Given the description of an element on the screen output the (x, y) to click on. 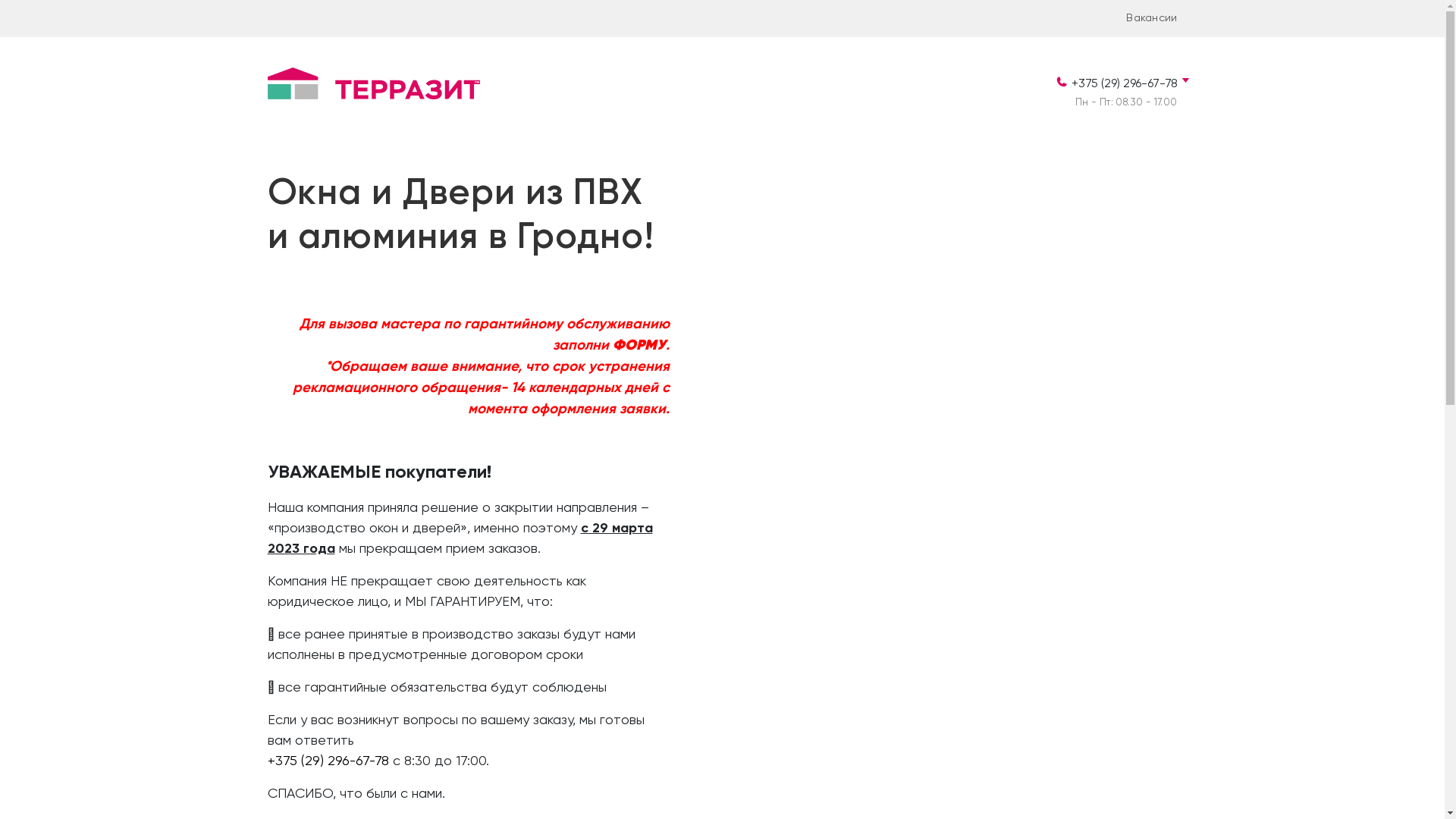
+375 (29) 296-67-78 Element type: text (327, 761)
